Given the description of an element on the screen output the (x, y) to click on. 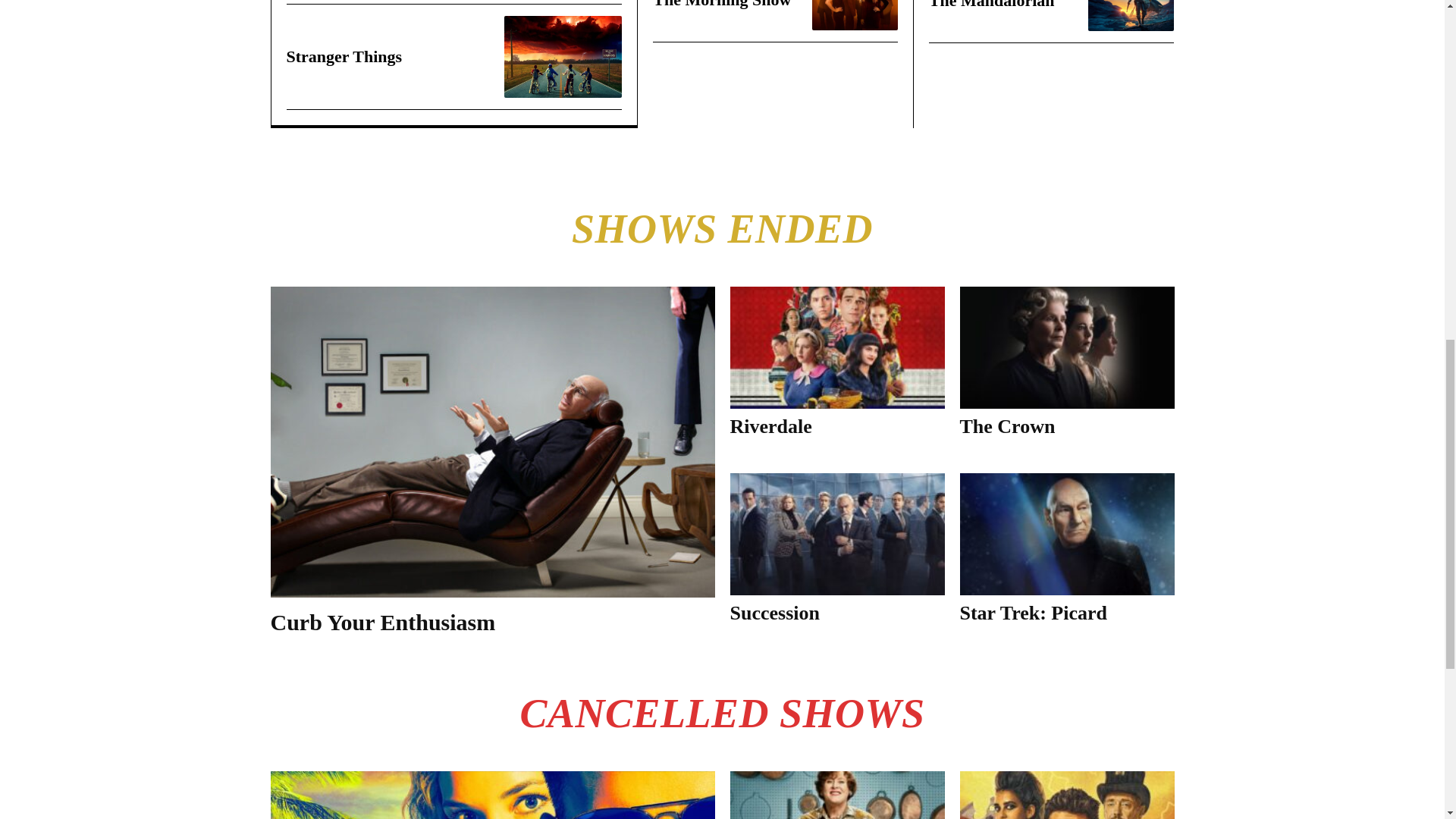
Stranger Things (344, 56)
The Morning Show (721, 4)
Stranger Things (562, 56)
Stranger Things (344, 56)
